Given the description of an element on the screen output the (x, y) to click on. 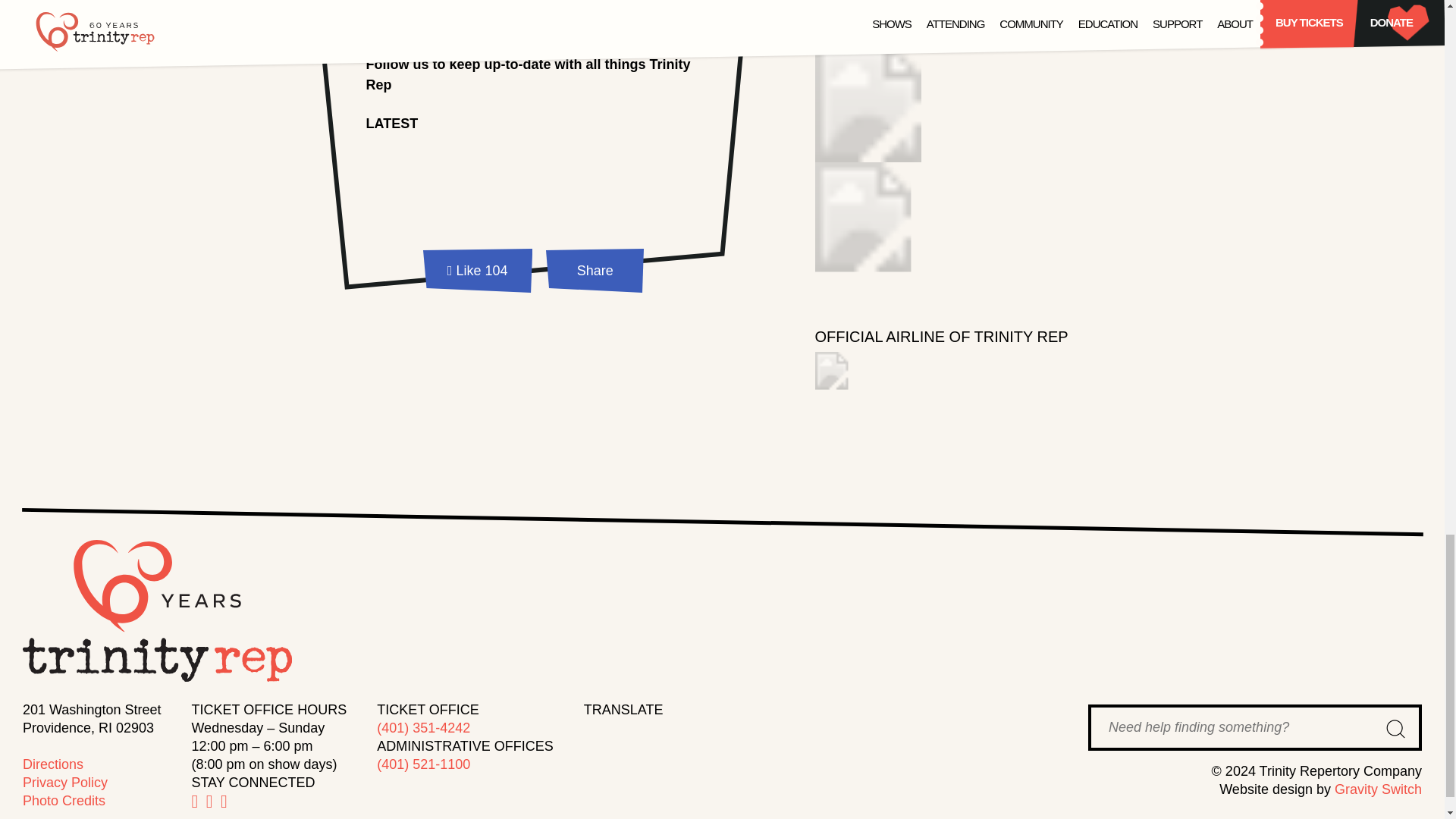
GO (1395, 728)
Like 104 (477, 273)
GO (1395, 728)
Facebook (360, 11)
